Given the description of an element on the screen output the (x, y) to click on. 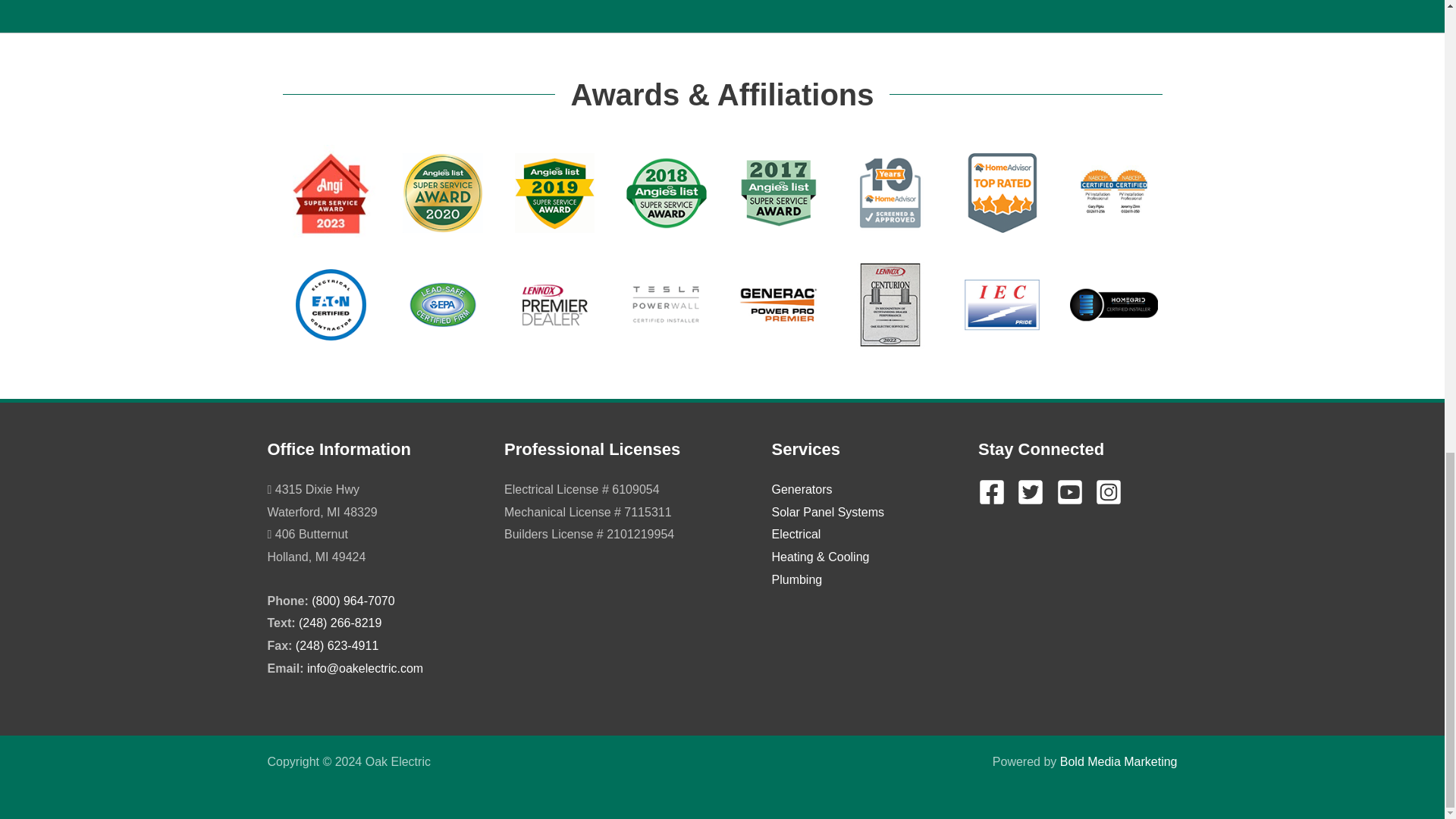
eaton-certified (330, 304)
Angies-List-2019 (555, 192)
NABCEP (1113, 192)
10year-solid-border (890, 192)
Angies-List-2018 (665, 192)
Angies-List-2020 (443, 192)
lead-safe-certified-firm (443, 304)
New-lennox-logo (555, 304)
Angies-List-2017 (778, 192)
angi-2023 (330, 192)
